Given the description of an element on the screen output the (x, y) to click on. 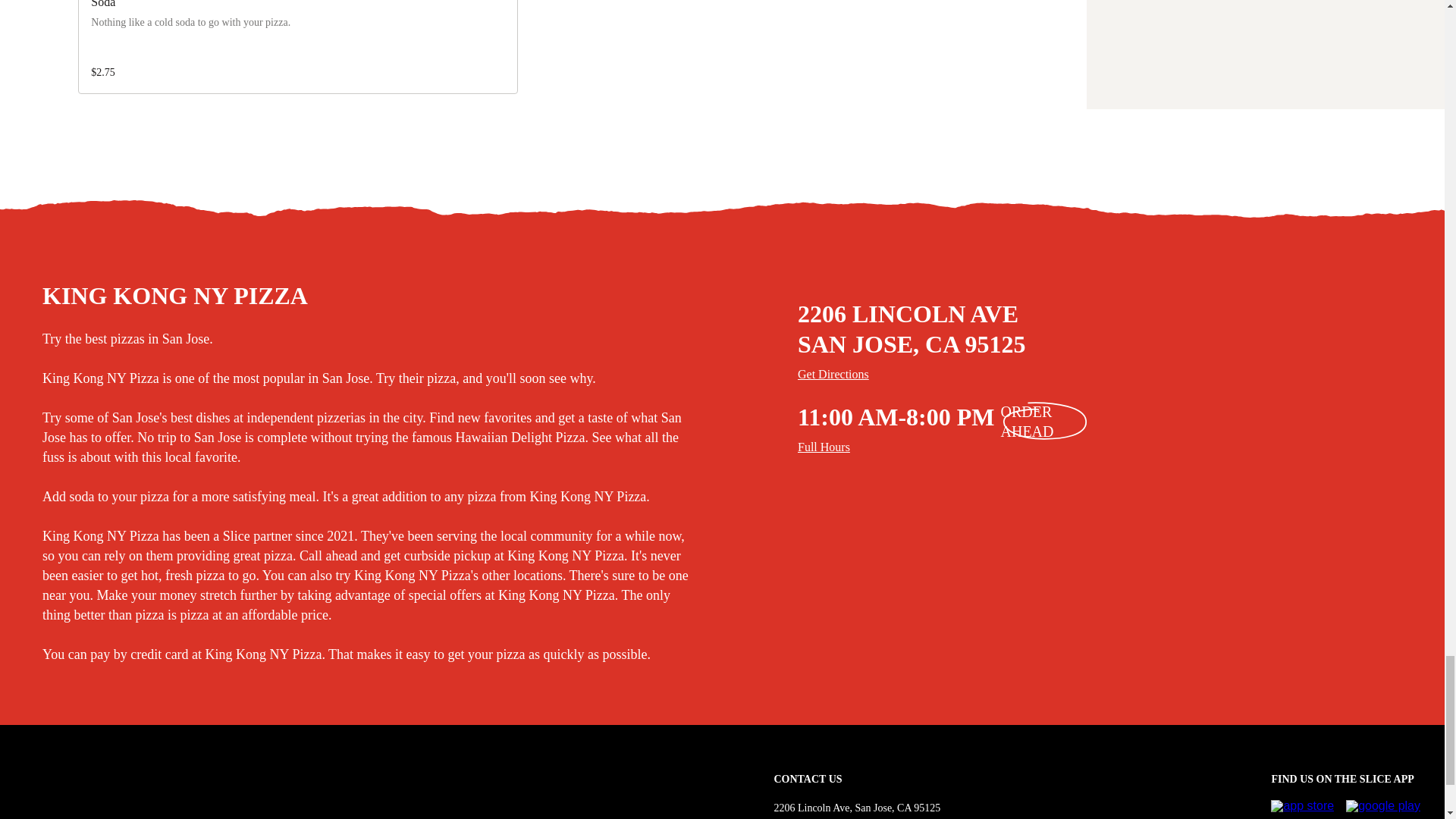
Get Directions (1119, 374)
